Given the description of an element on the screen output the (x, y) to click on. 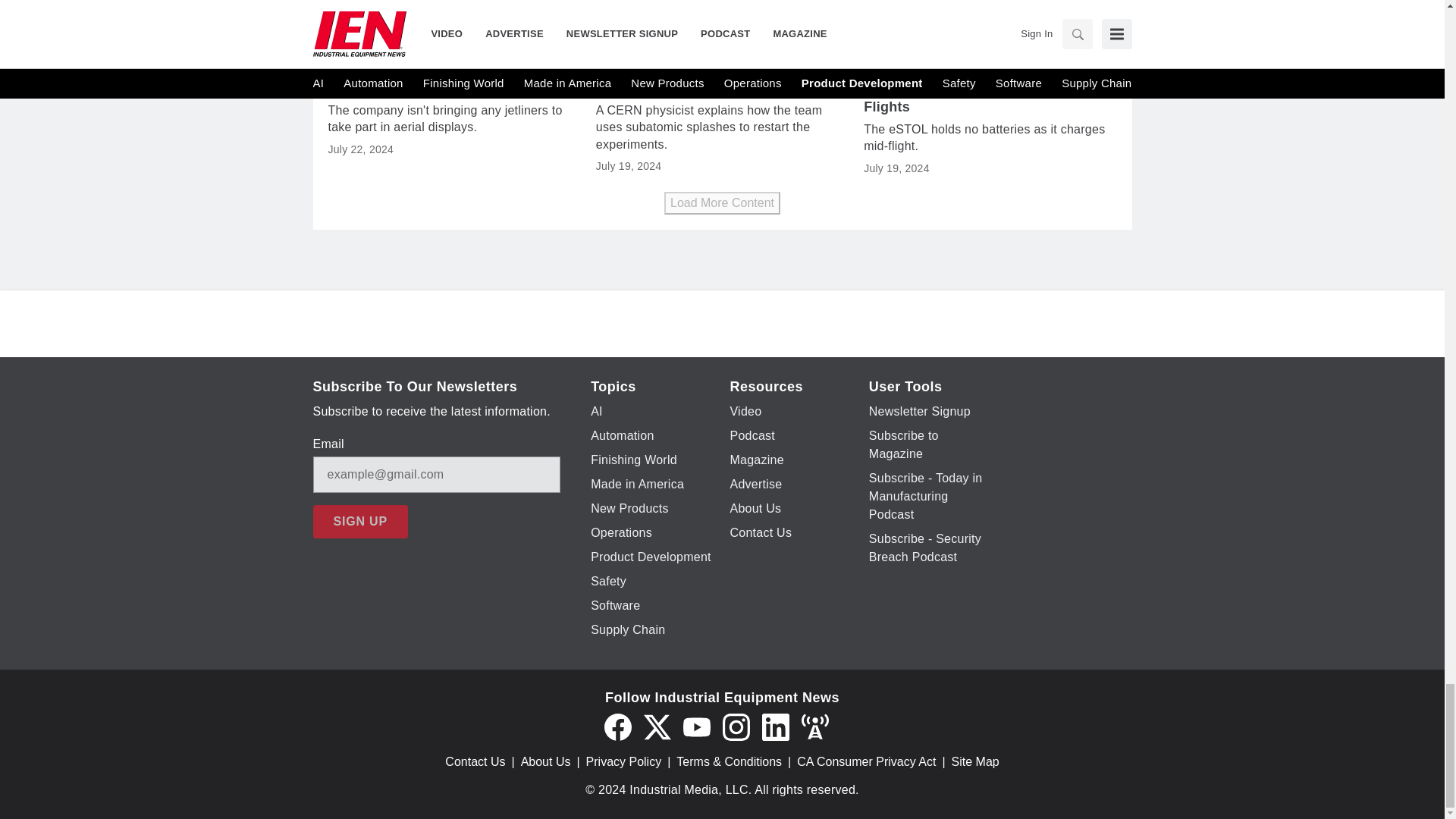
Twitter X icon (656, 727)
Instagram icon (735, 727)
LinkedIn icon (775, 727)
YouTube icon (696, 727)
Facebook icon (617, 727)
